Given the description of an element on the screen output the (x, y) to click on. 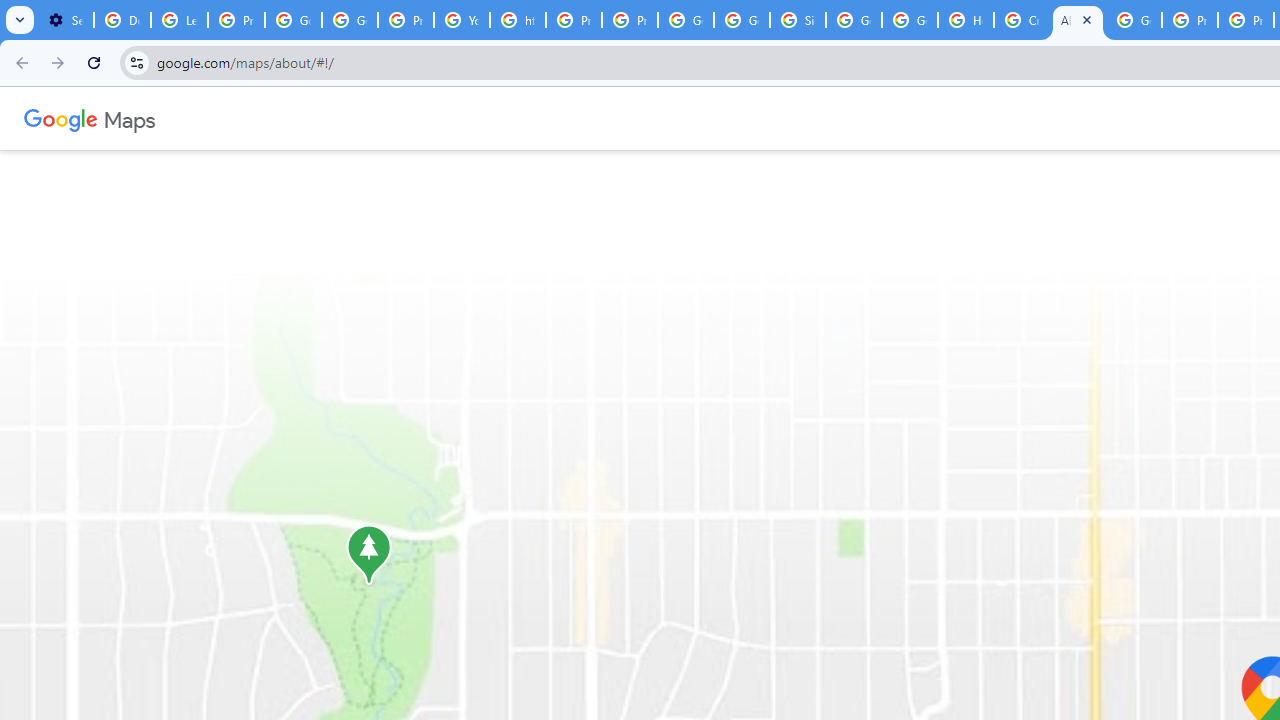
Create your Google Account (1021, 20)
Delete photos & videos - Computer - Google Photos Help (122, 20)
Skip to Content (264, 115)
